Given the description of an element on the screen output the (x, y) to click on. 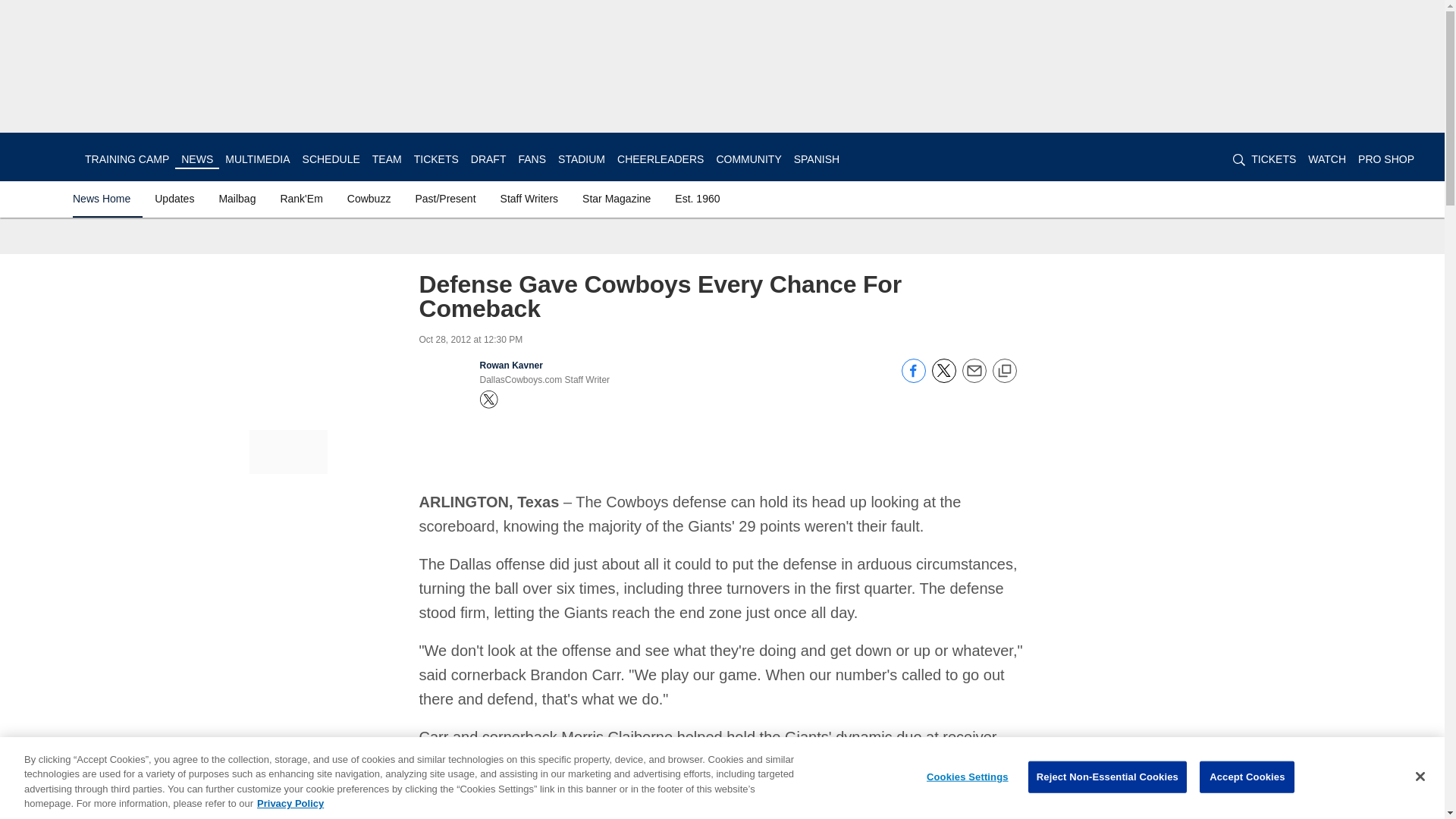
Mailbag (237, 198)
DRAFT (488, 159)
PRO SHOP (1385, 159)
FANS (532, 159)
COMMUNITY (748, 159)
CHEERLEADERS (660, 159)
PRO SHOP (1385, 159)
SCHEDULE (330, 159)
FANS (532, 159)
Link to club's homepage (42, 156)
